Given the description of an element on the screen output the (x, y) to click on. 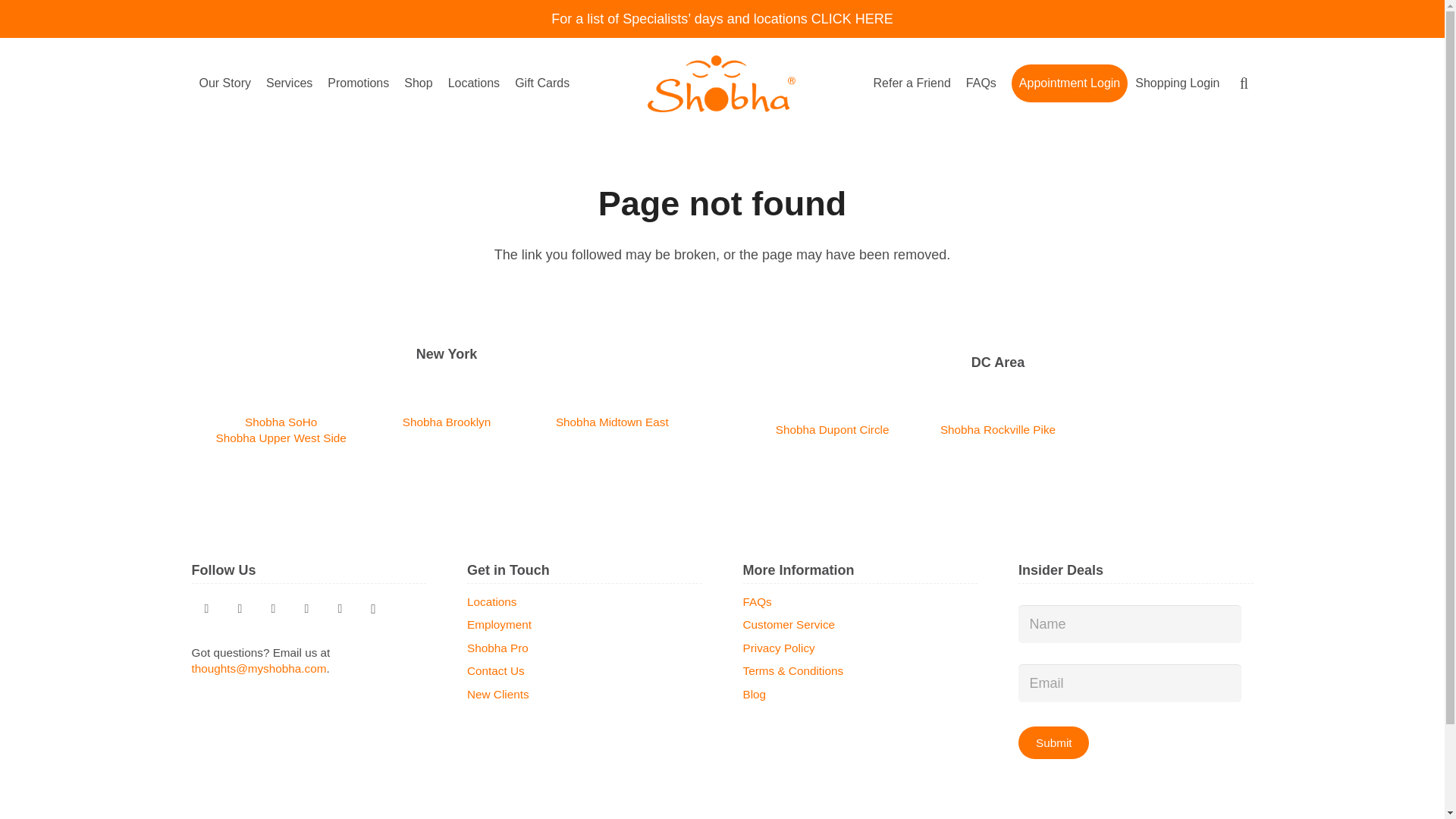
Blog (272, 608)
YouTube (306, 608)
Shop (417, 83)
Promotions (358, 83)
Our Story (223, 83)
Instagram (373, 608)
Refer a Friend (912, 83)
Pinterest (239, 608)
Locations (474, 83)
Facebook (339, 608)
Submit (1053, 742)
Twitter (205, 608)
Gift Cards (541, 83)
FAQs (981, 83)
Services (289, 83)
